Given the description of an element on the screen output the (x, y) to click on. 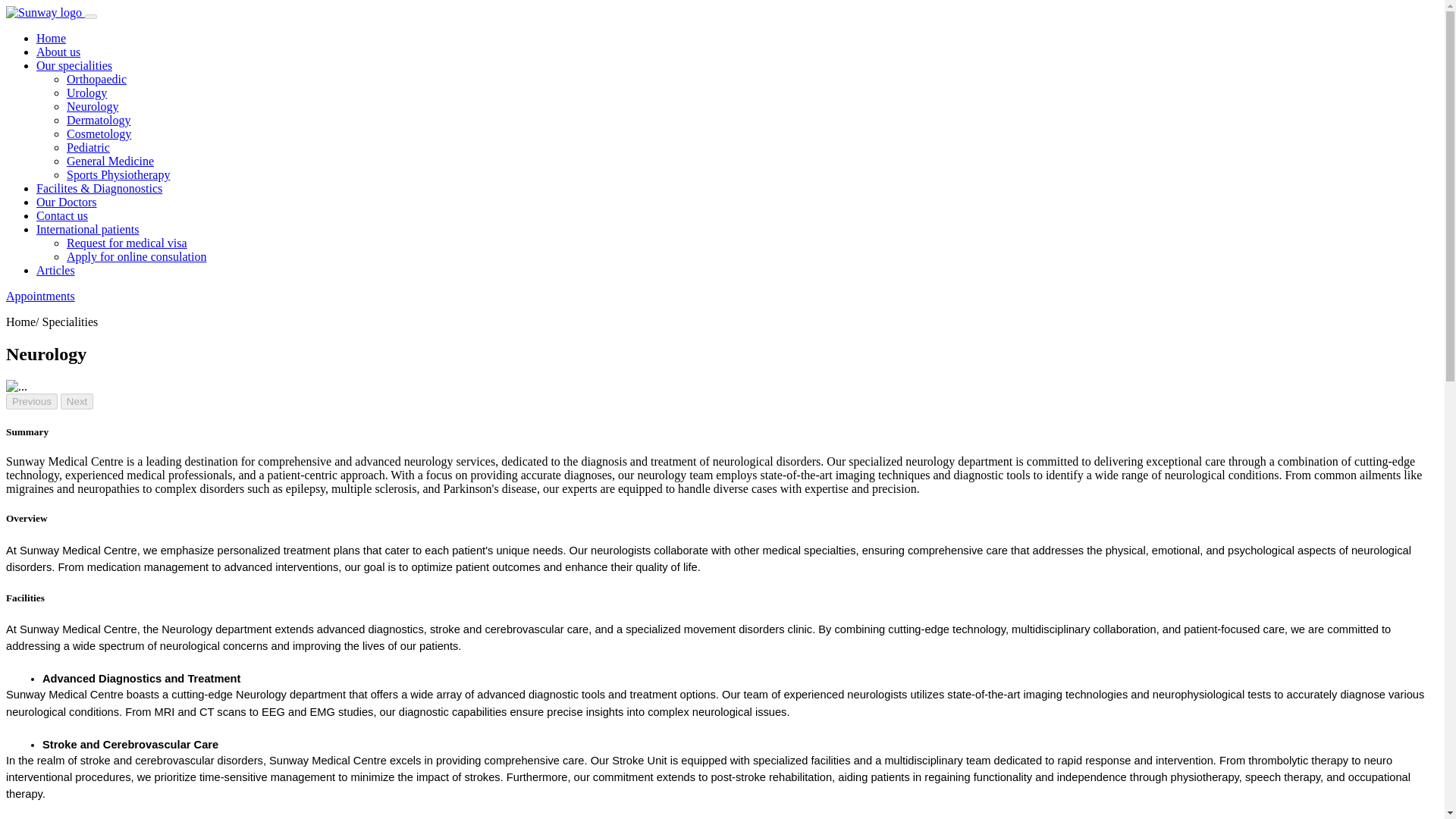
Orthopaedic (96, 78)
Home (50, 38)
Request for medical visa (126, 242)
About us (58, 51)
Previous (31, 401)
Neurology (91, 106)
General Medicine (110, 160)
Appointments (40, 295)
Next (77, 401)
Urology (86, 92)
Our specialities (74, 65)
Articles (55, 269)
Our Doctors (66, 201)
Pediatric (88, 146)
Sports Physiotherapy (118, 174)
